Given the description of an element on the screen output the (x, y) to click on. 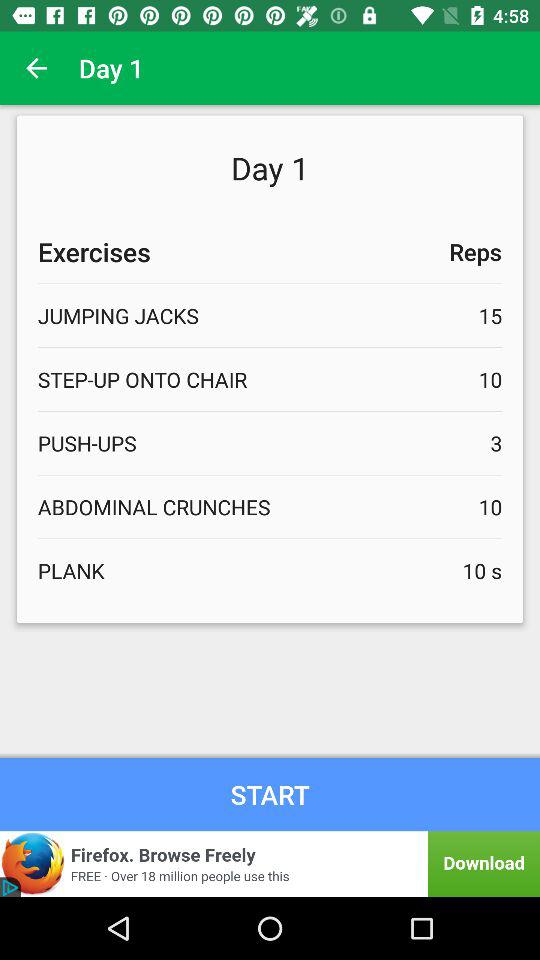
click on the plank option (269, 569)
select abdominal crunches (269, 506)
select the field pushups 3 (269, 442)
select the text under the exercises (269, 315)
